Given the description of an element on the screen output the (x, y) to click on. 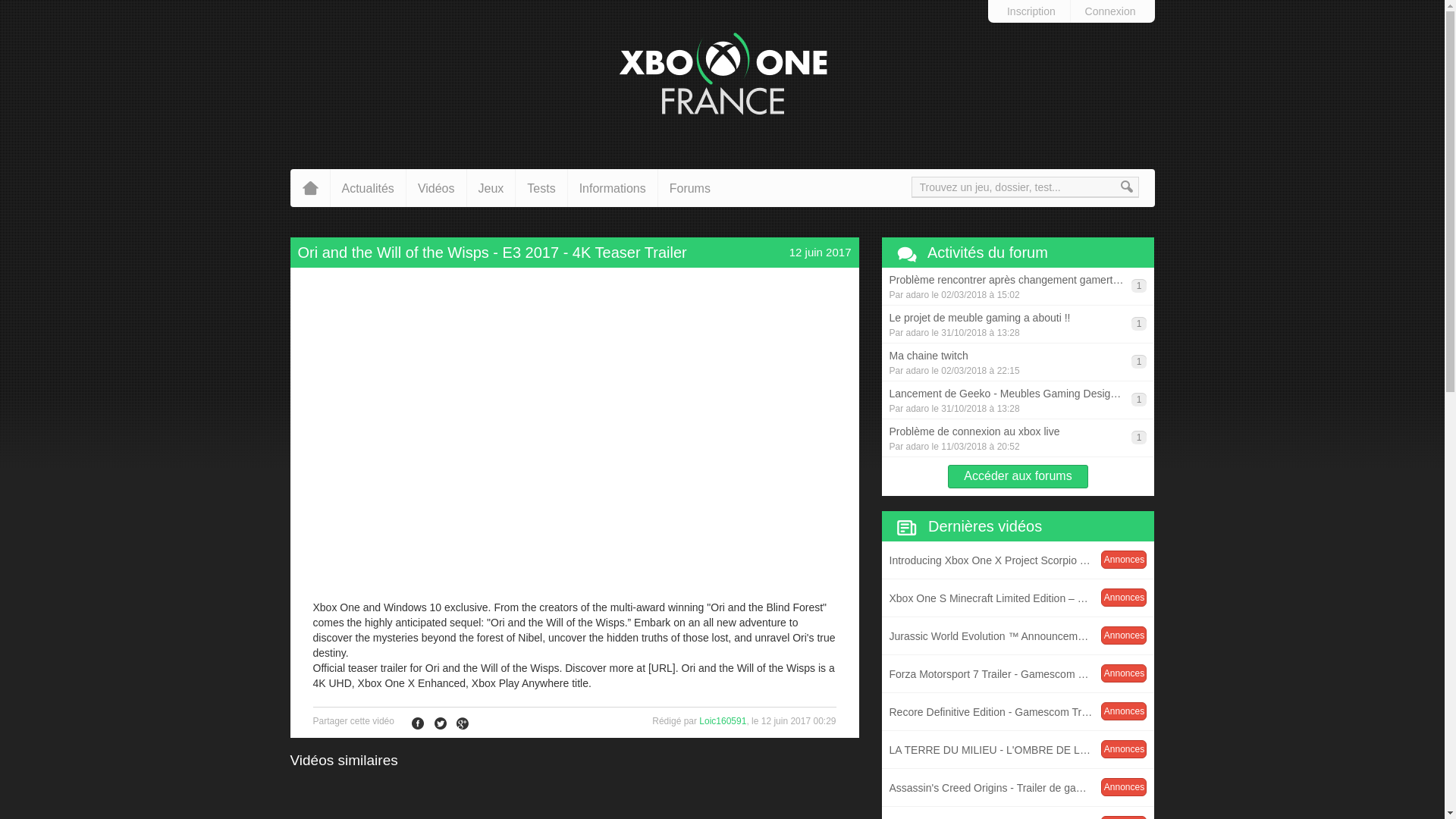
Inscription (1031, 10)
Tests (540, 188)
Connexion (1017, 673)
Forums (1017, 812)
Jeux Xbox One (1109, 10)
Loic160591 (690, 188)
Jeux (491, 188)
